Given the description of an element on the screen output the (x, y) to click on. 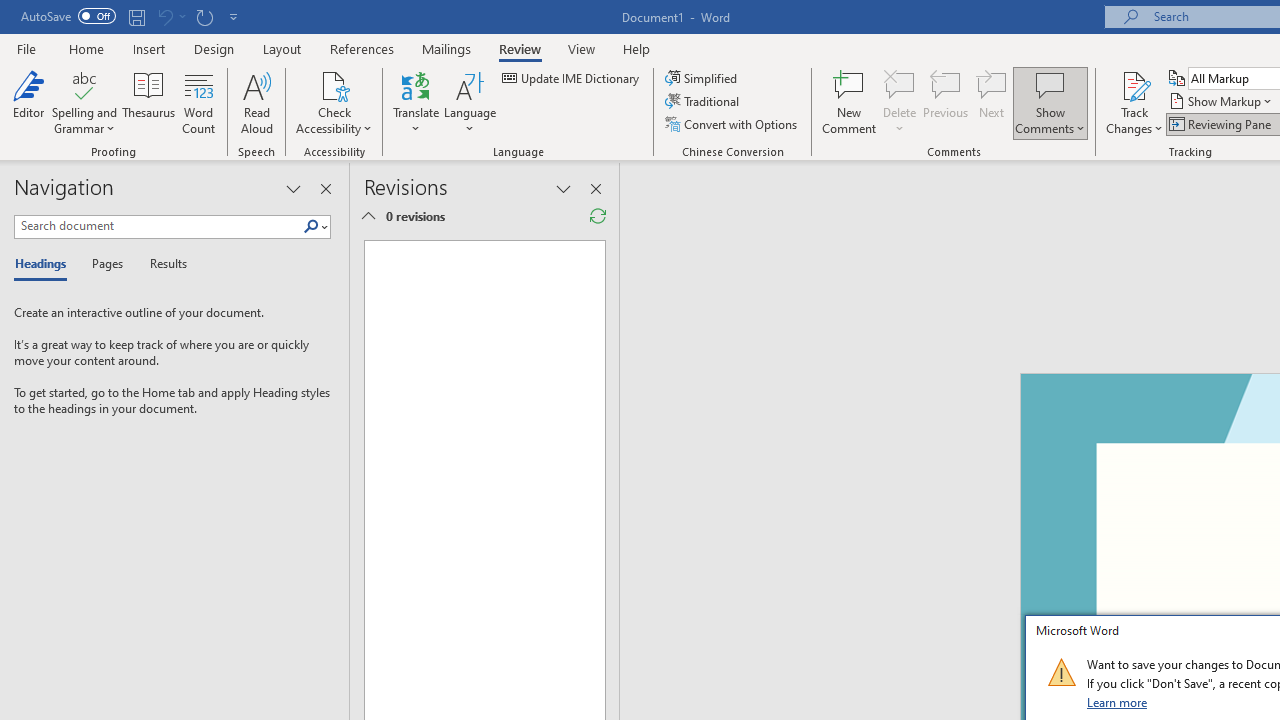
Previous (946, 102)
Delete (900, 102)
Check Accessibility (334, 84)
Spelling and Grammar (84, 84)
Language (470, 102)
Translate (415, 102)
New Comment (849, 102)
